Given the description of an element on the screen output the (x, y) to click on. 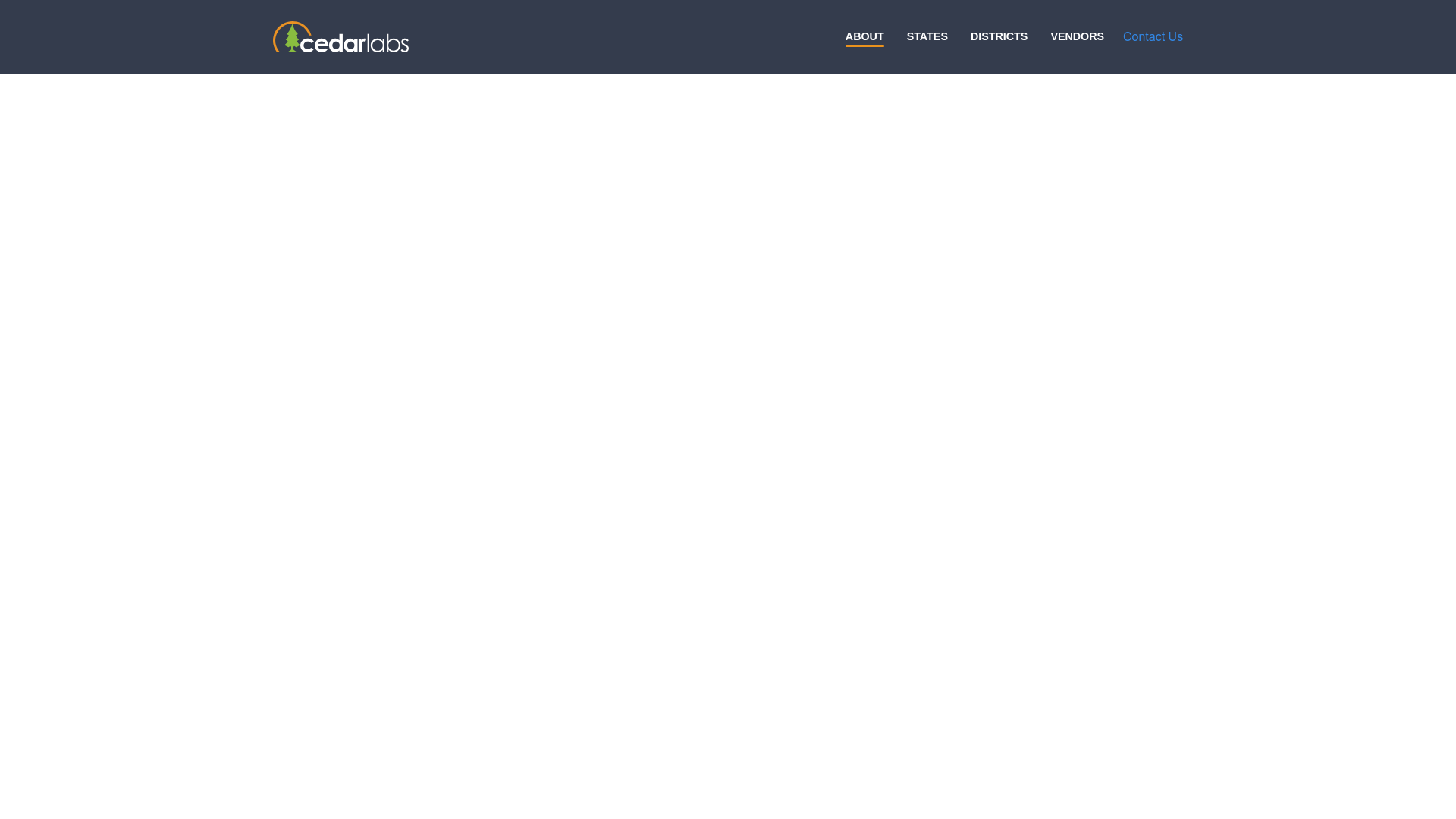
VENDORS (1076, 36)
DISTRICTS (999, 36)
Cedar Labs (341, 36)
ABOUT (864, 36)
STATES (927, 36)
